Given the description of an element on the screen output the (x, y) to click on. 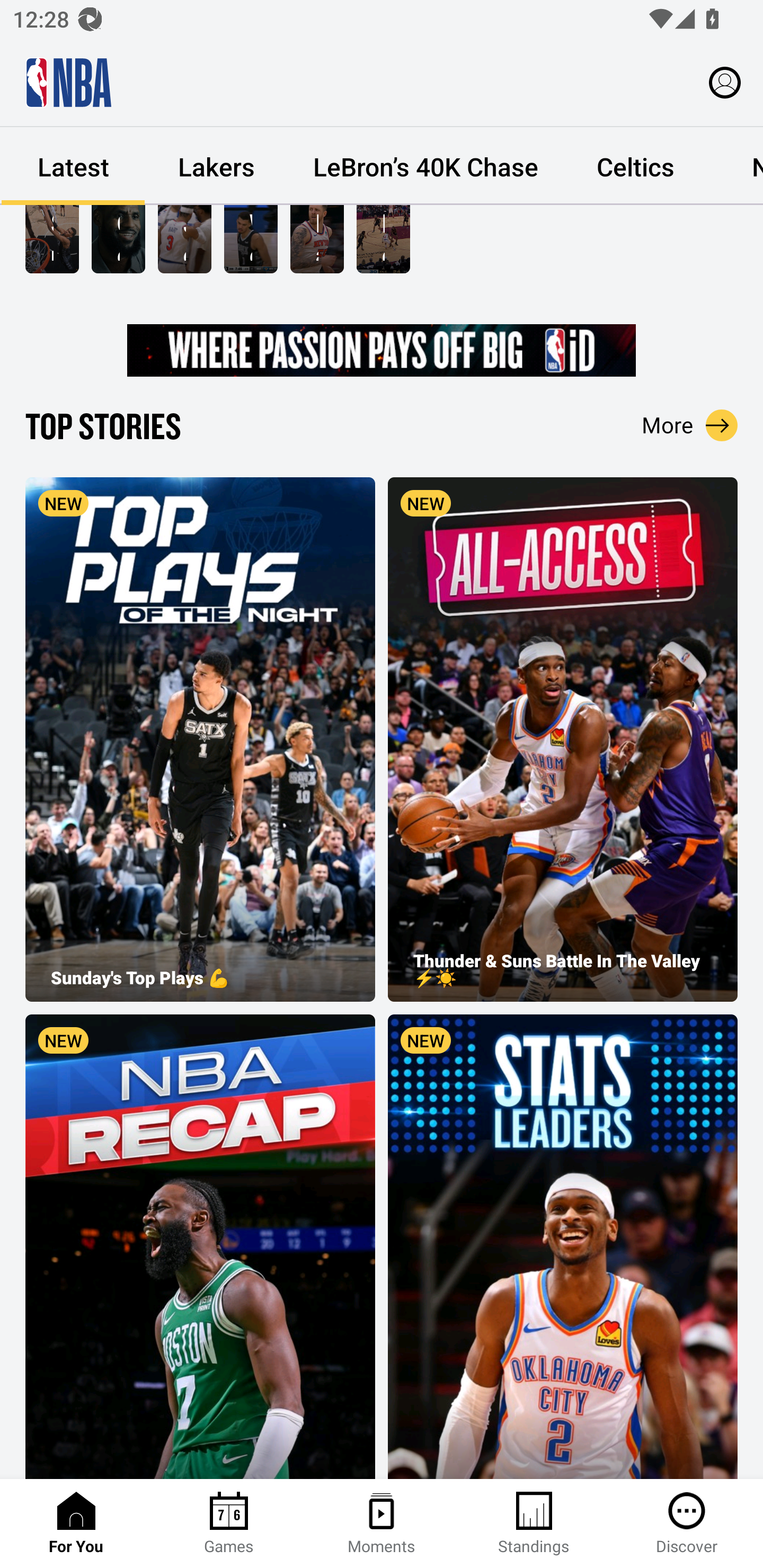
Profile (724, 81)
Lakers (215, 166)
LeBron’s 40K Chase (425, 166)
Celtics (634, 166)
Sunday's Top Plays In 30 Seconds ⏱ (51, 238)
Hartenstein Drops The Hammer 🔨 (317, 238)
More (689, 424)
NEW Sunday's Top Plays 💪 (200, 738)
NEW Thunder & Suns Battle In The Valley ⚡☀ (562, 738)
NEW (200, 1246)
NEW (562, 1246)
Games (228, 1523)
Moments (381, 1523)
Standings (533, 1523)
Discover (686, 1523)
